Given the description of an element on the screen output the (x, y) to click on. 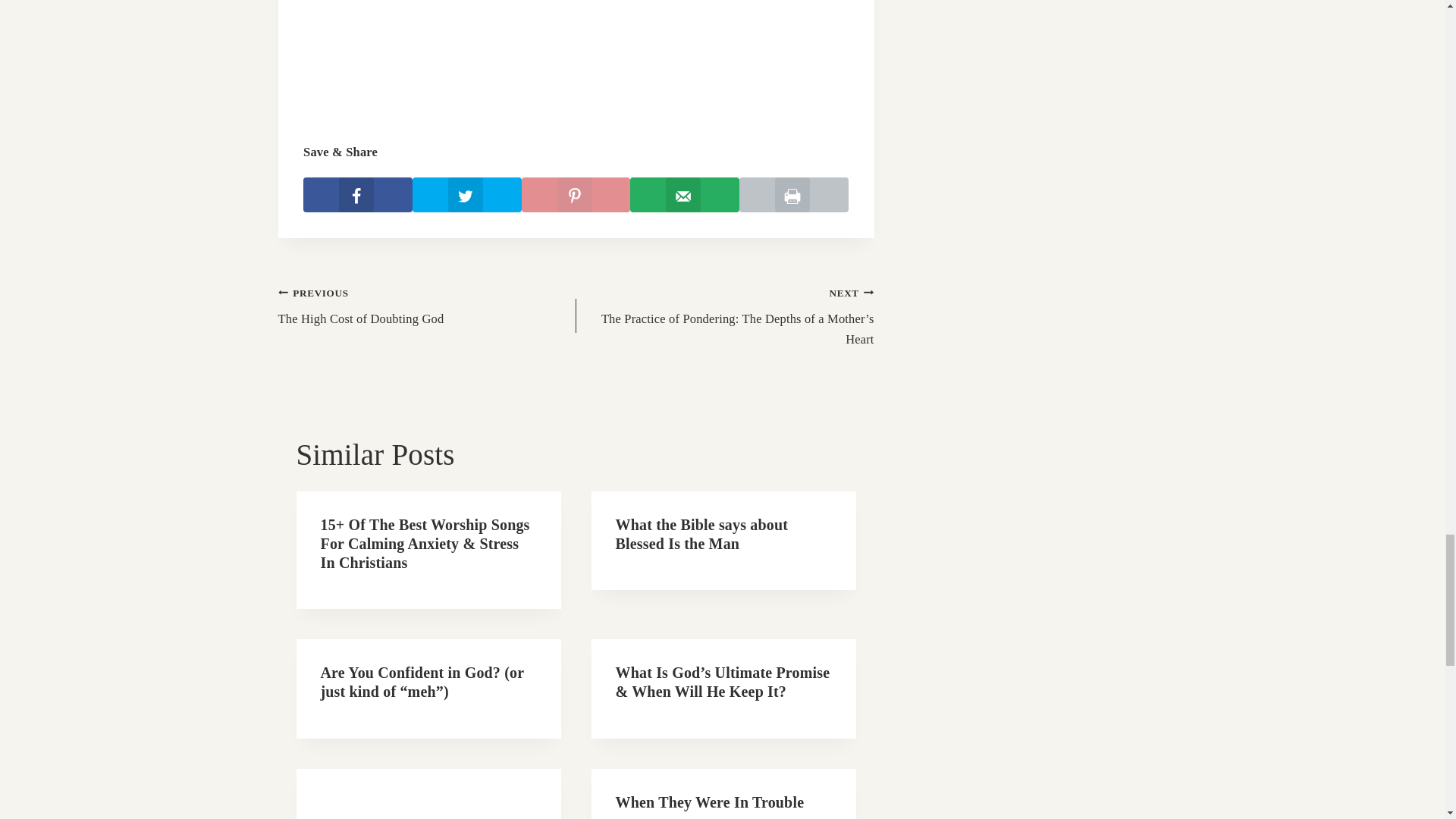
Print this webpage (793, 201)
Share on Facebook (357, 201)
Share on Twitter (466, 201)
Send over email (684, 201)
Save to Pinterest (575, 201)
